Given the description of an element on the screen output the (x, y) to click on. 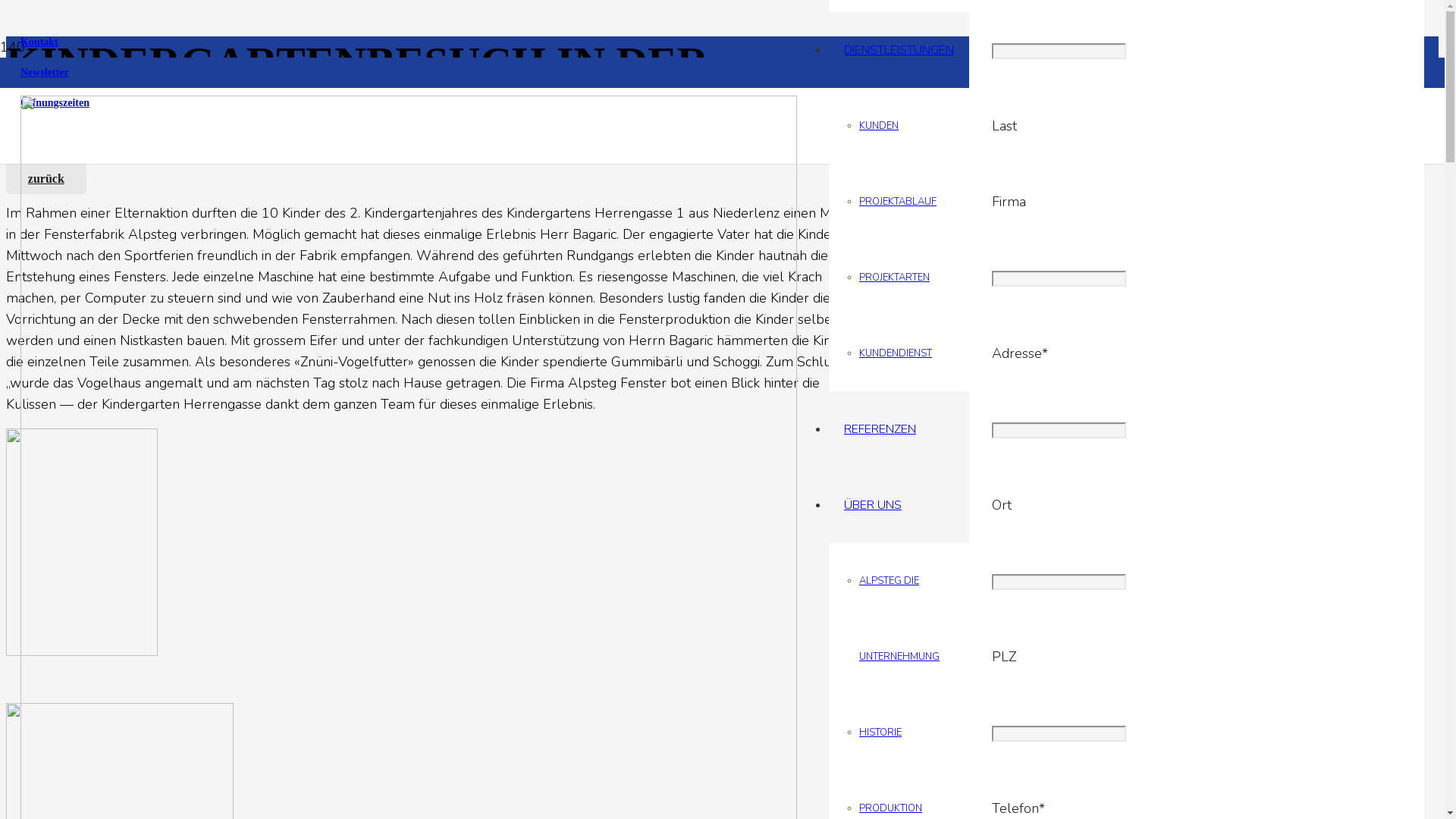
Newsletter Element type: text (44, 72)
REFERENZEN Element type: text (879, 428)
PROJEKTARTEN Element type: text (894, 277)
PROJEKTABLAUF Element type: text (897, 201)
ALPSTEG DIE UNTERNEHMUNG Element type: text (899, 618)
HISTORIE Element type: text (880, 732)
DIENSTLEISTUNGEN Element type: text (898, 49)
KUNDENDIENST Element type: text (895, 353)
Kontakt Element type: text (39, 41)
KUNDEN Element type: text (878, 125)
